Given the description of an element on the screen output the (x, y) to click on. 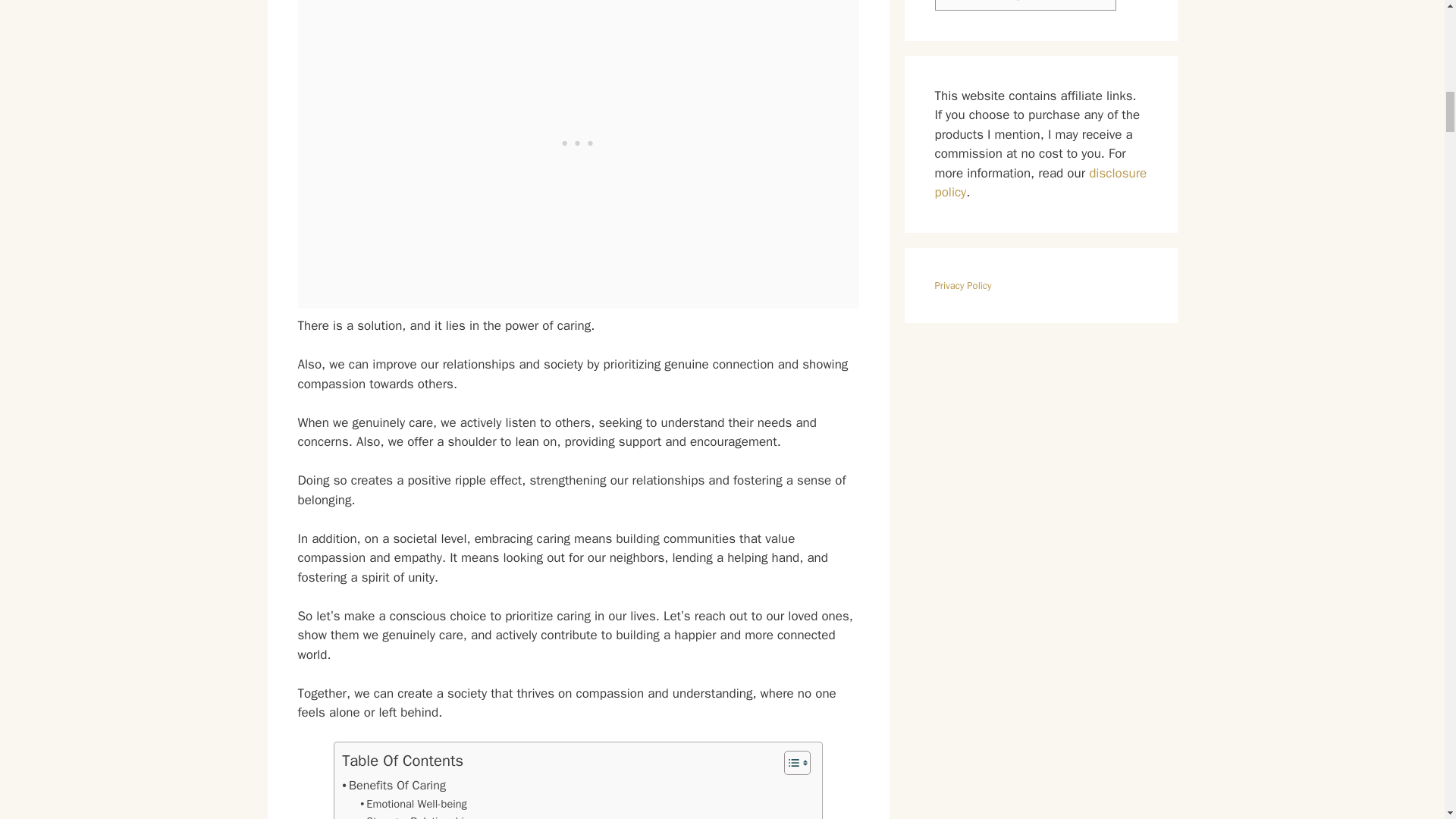
Benefits Of Caring (393, 785)
Benefits Of Caring (393, 785)
Stronger Relationships (417, 816)
Stronger Relationships (417, 816)
Emotional Well-being (412, 804)
Emotional Well-being (412, 804)
